Given the description of an element on the screen output the (x, y) to click on. 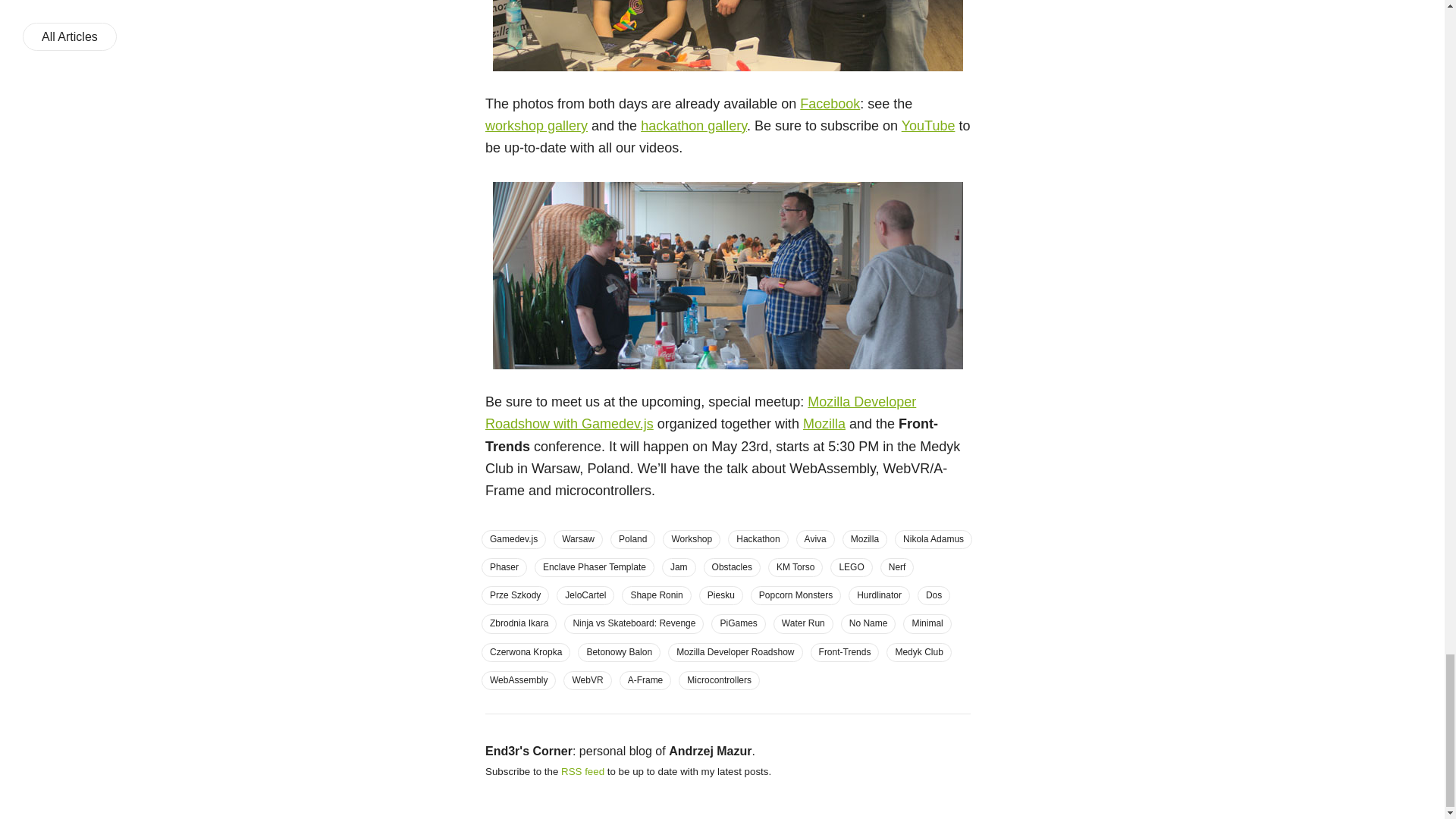
Nerf (897, 567)
Workshop (691, 538)
workshop gallery (536, 125)
Mozilla (824, 423)
Nikola Adamus (933, 538)
Mozilla (864, 538)
Enclave Phaser Template (593, 567)
hackathon gallery (693, 125)
Poland (632, 538)
Warsaw (577, 538)
YouTube (928, 125)
LEGO (850, 567)
Facebook (829, 103)
Aviva (815, 538)
Phaser (504, 567)
